Given the description of an element on the screen output the (x, y) to click on. 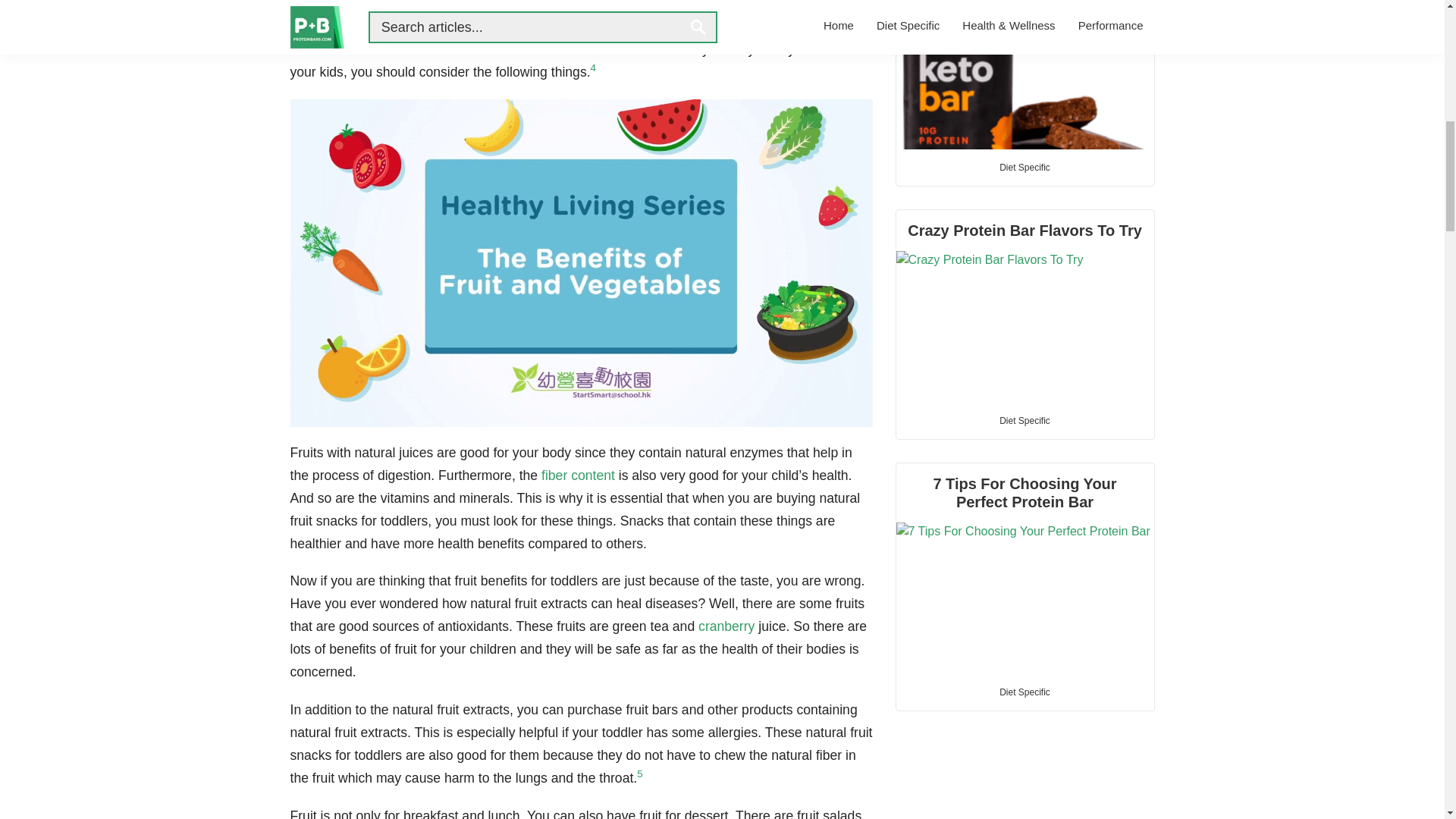
Crazy Protein Bar Flavors To Try (1025, 305)
10 Low-sugar Protein Bars You Need To Try - Protein Bars (1025, 74)
Crazy Protein Bar Flavors To Try - Protein Bars (1025, 326)
10 Low-sugar Protein Bars You Need To Try (1025, 74)
fiber content (577, 475)
7 Tips For Choosing Your Perfect Protein Bar - Protein Bars (1025, 598)
7 Tips For Choosing Your Perfect Protein Bar (1025, 568)
cranberry (726, 626)
